Given the description of an element on the screen output the (x, y) to click on. 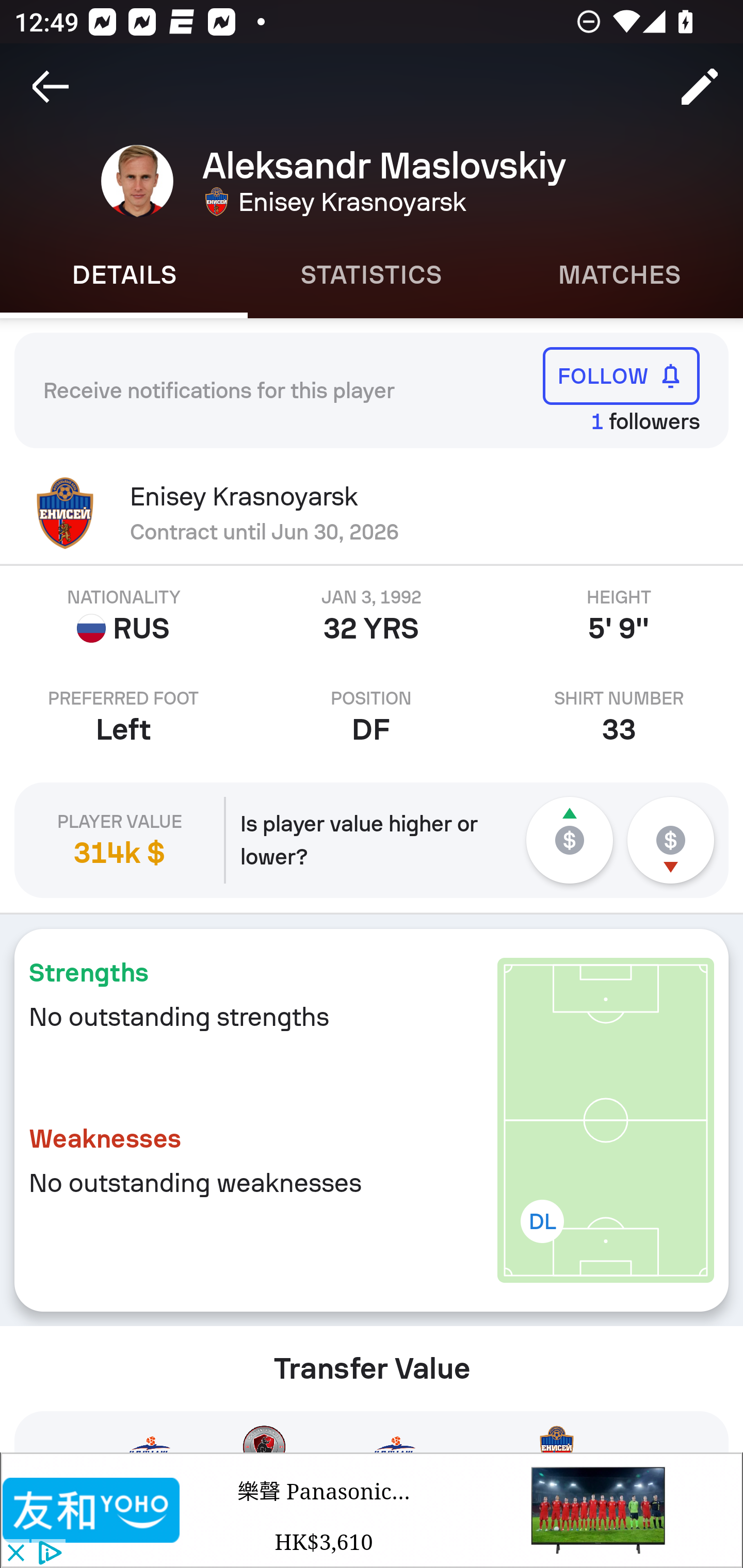
Navigate up (50, 86)
Edit (699, 86)
Statistics STATISTICS (371, 275)
Matches MATCHES (619, 275)
FOLLOW (621, 375)
Enisey Krasnoyarsk Contract until Jun 30, 2026 (371, 513)
NATIONALITY RUS (123, 616)
POSITION DF (371, 717)
   (91, 1509)
close_button (14, 1553)
privacy_small (47, 1553)
